Given the description of an element on the screen output the (x, y) to click on. 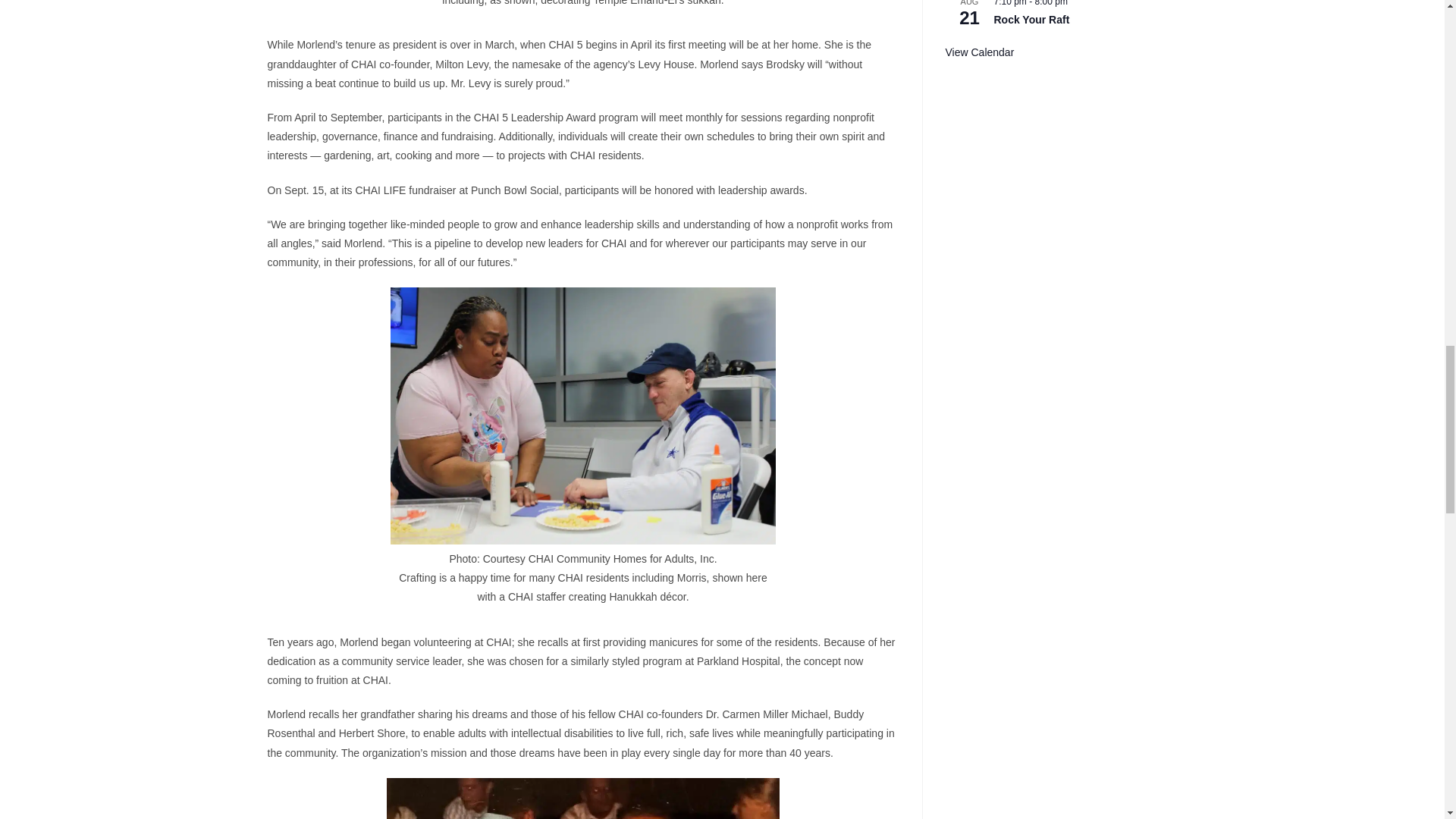
Rock Your Raft (1030, 19)
View more events. (978, 51)
